Given the description of an element on the screen output the (x, y) to click on. 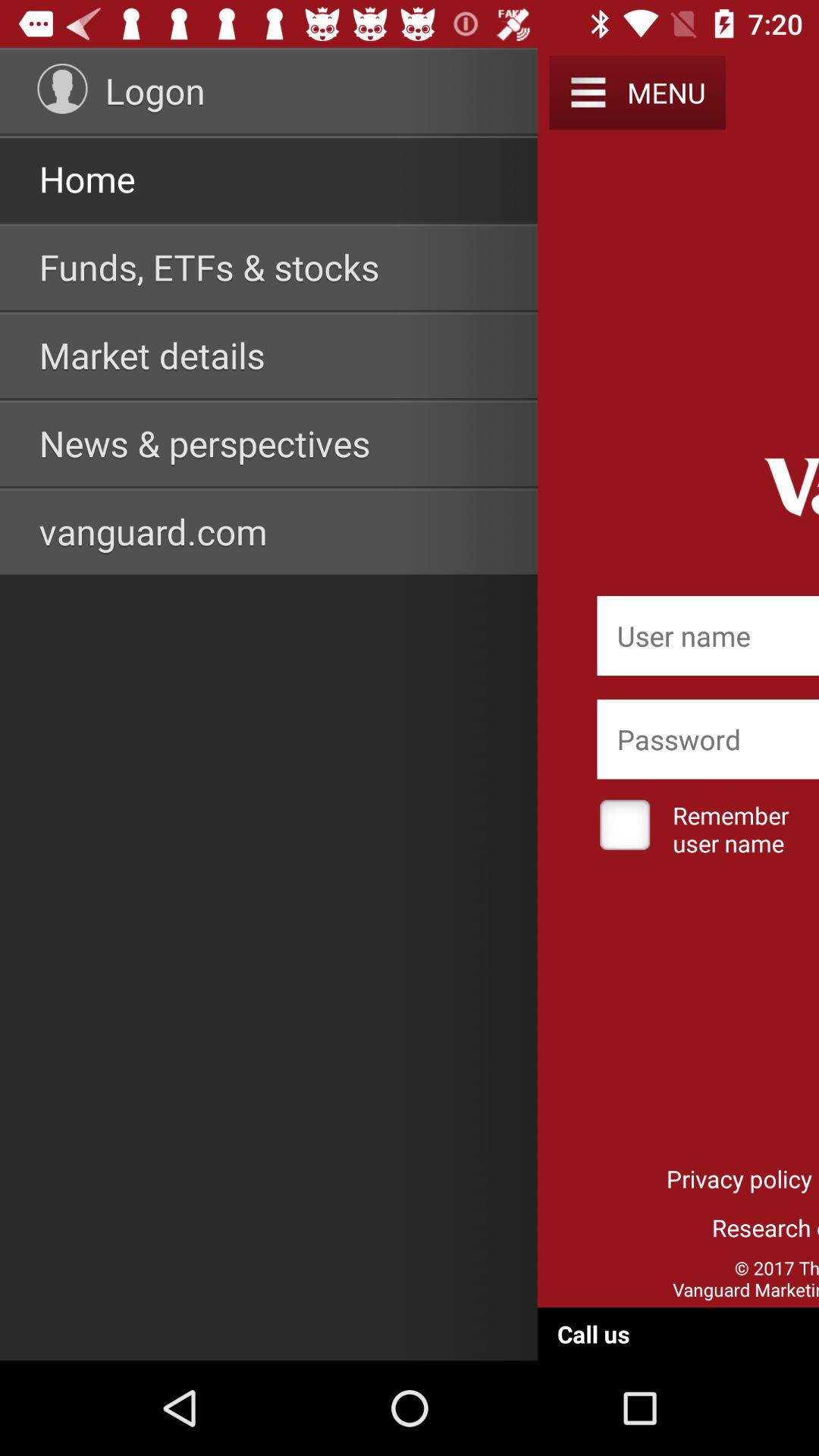
enter password (708, 739)
